Given the description of an element on the screen output the (x, y) to click on. 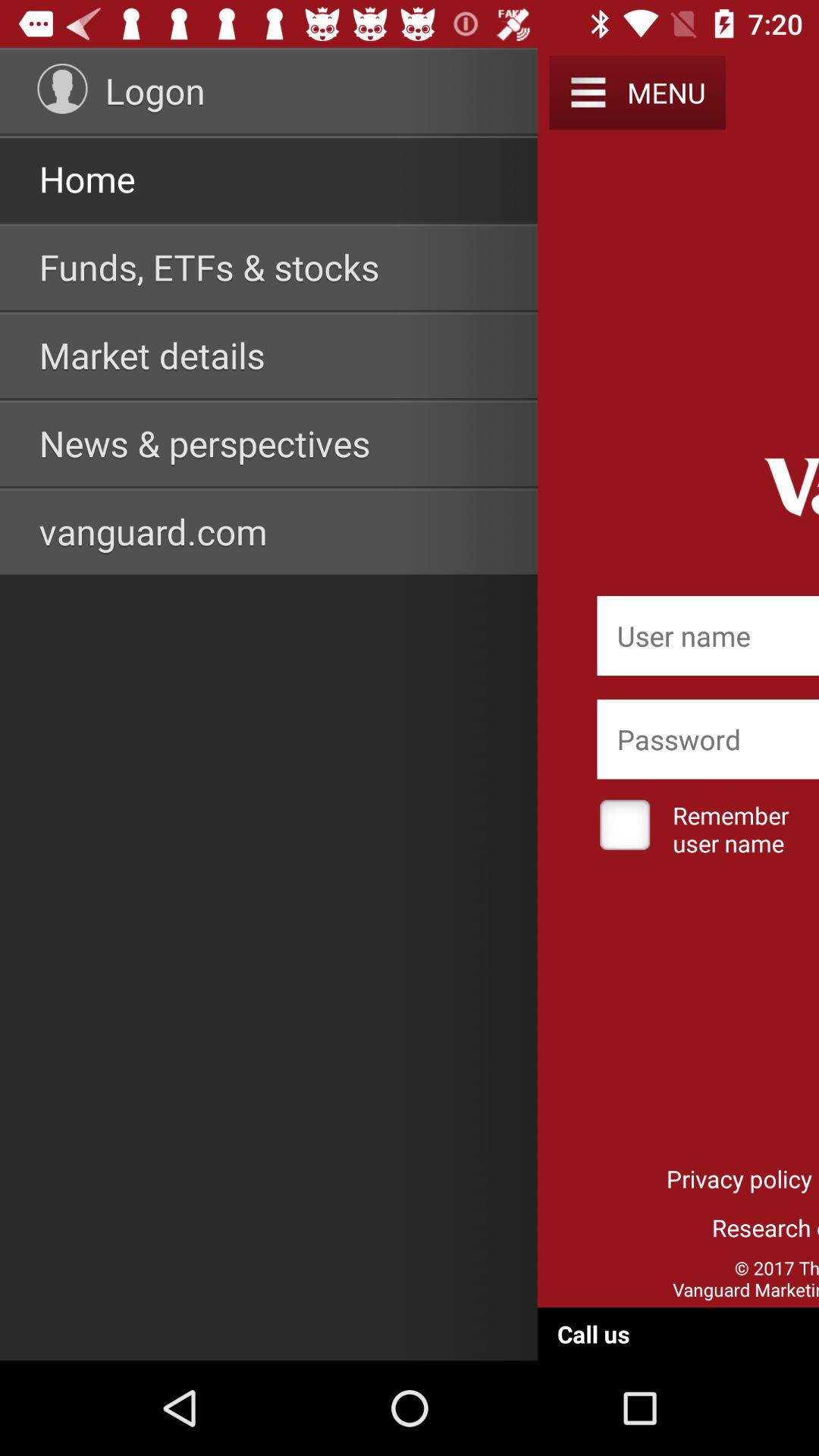
enter password (708, 739)
